Given the description of an element on the screen output the (x, y) to click on. 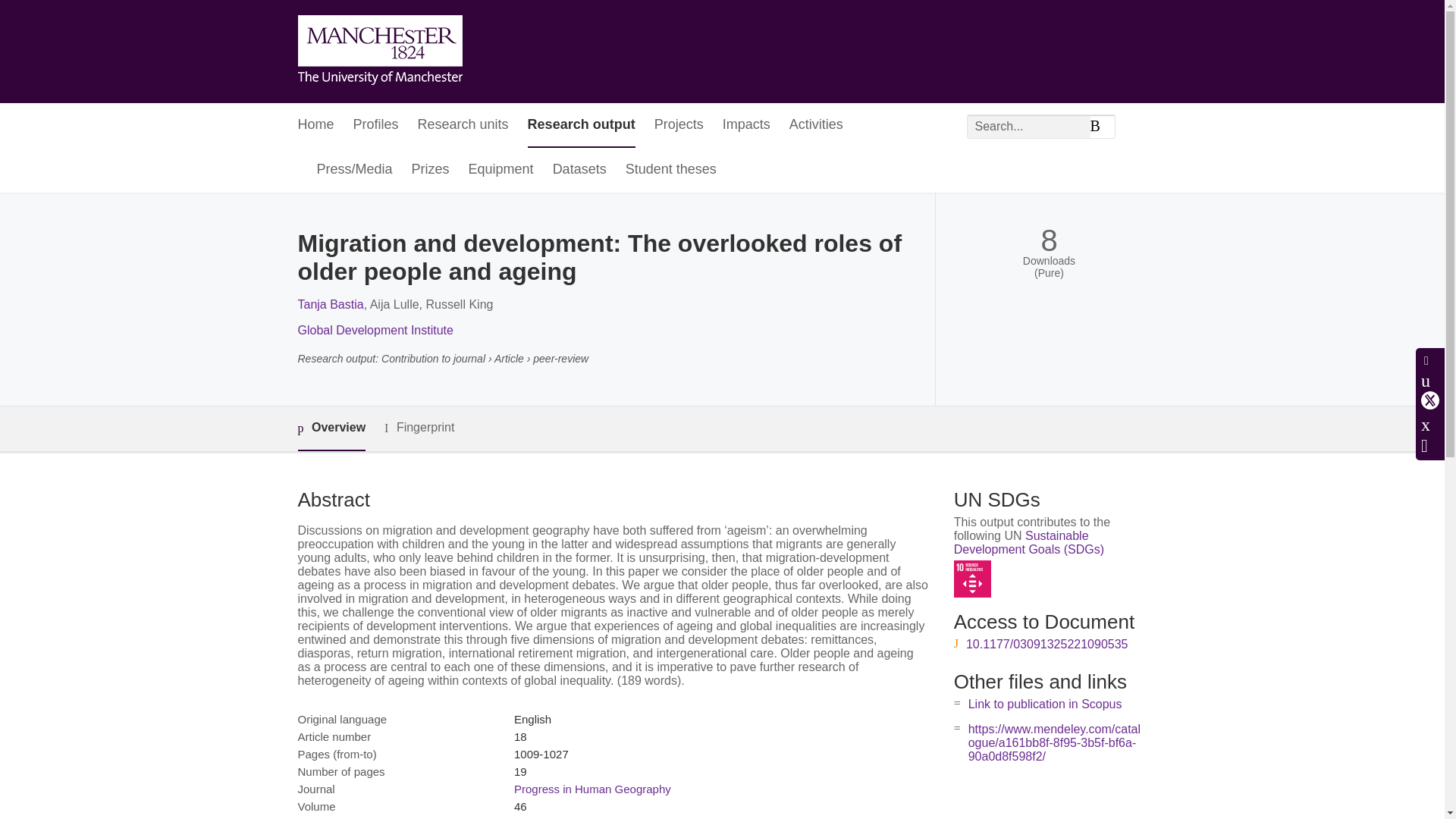
Student theses (671, 170)
Profiles (375, 125)
Fingerprint (419, 427)
Overview (331, 428)
Research output (580, 125)
Activities (816, 125)
Link to publication in Scopus (1045, 703)
Projects (678, 125)
Equipment (501, 170)
